Given the description of an element on the screen output the (x, y) to click on. 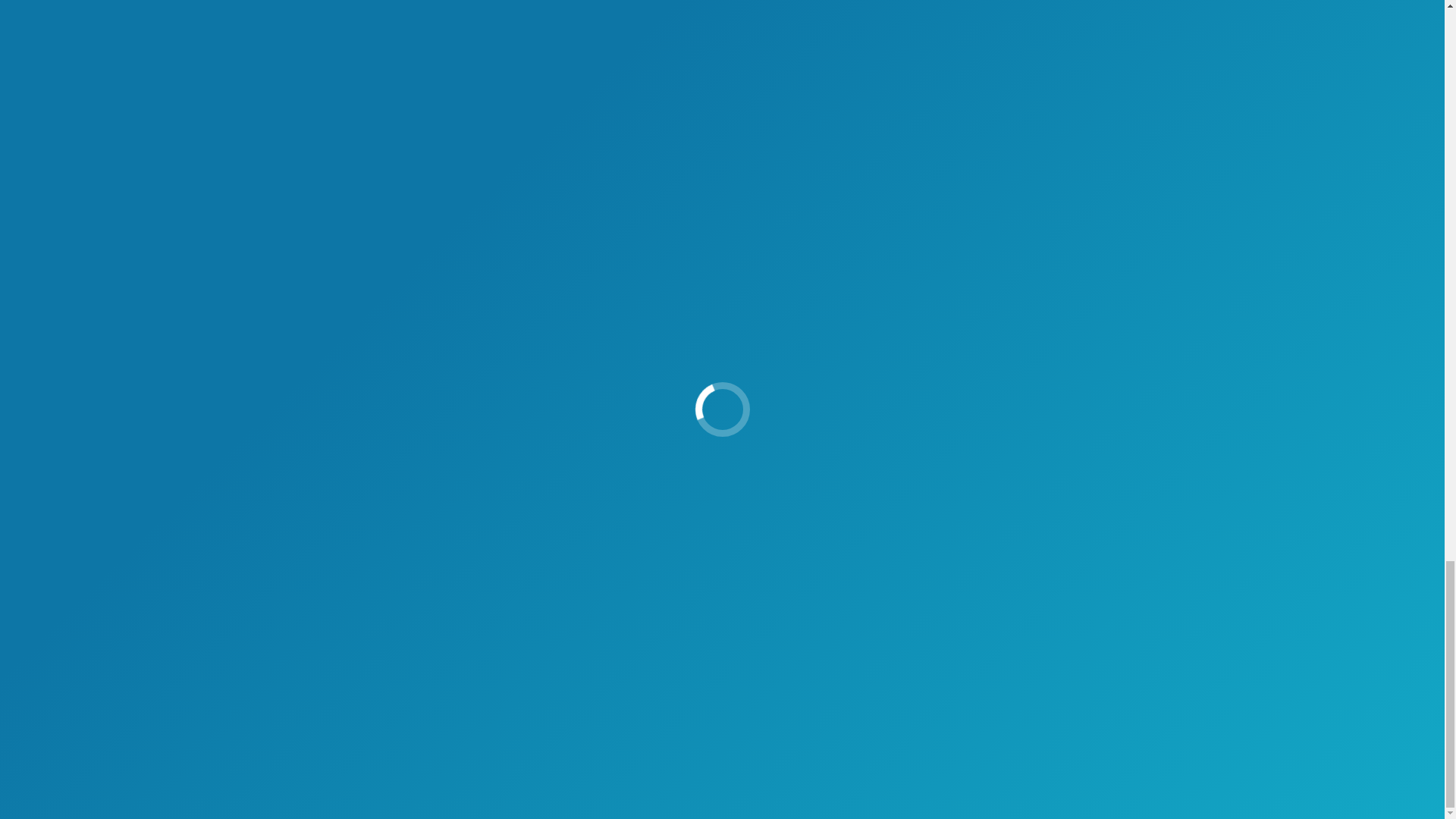
Employee Management (664, 125)
November 30, 2021 (960, 125)
10 Effective Ways to Motivate Your Staff (1080, 241)
Employee Productivity (770, 125)
8:30 am (960, 125)
Facebook page opens in new window (419, 698)
7 Smart Practices for Building a High-Performance Team (767, 241)
7 Effective Ways to Communicate with Your Employees (1080, 346)
Work Environment (864, 125)
Privacy Policy (1146, 796)
